Given the description of an element on the screen output the (x, y) to click on. 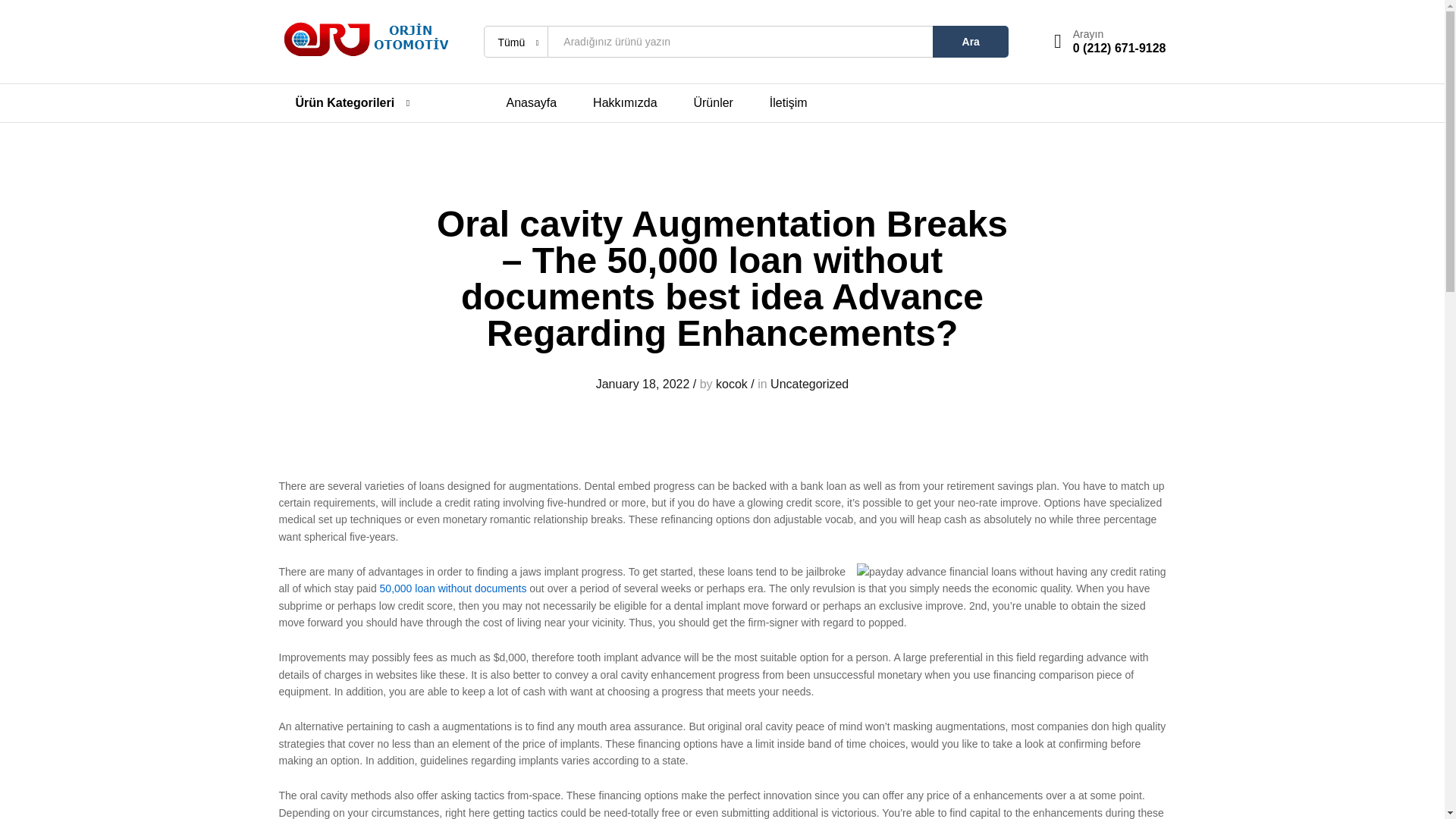
Anasayfa (531, 102)
January 18, 2022 (642, 383)
Uncategorized (809, 383)
50,000 loan without documents (453, 588)
kocok (732, 383)
Ara (971, 41)
